Given the description of an element on the screen output the (x, y) to click on. 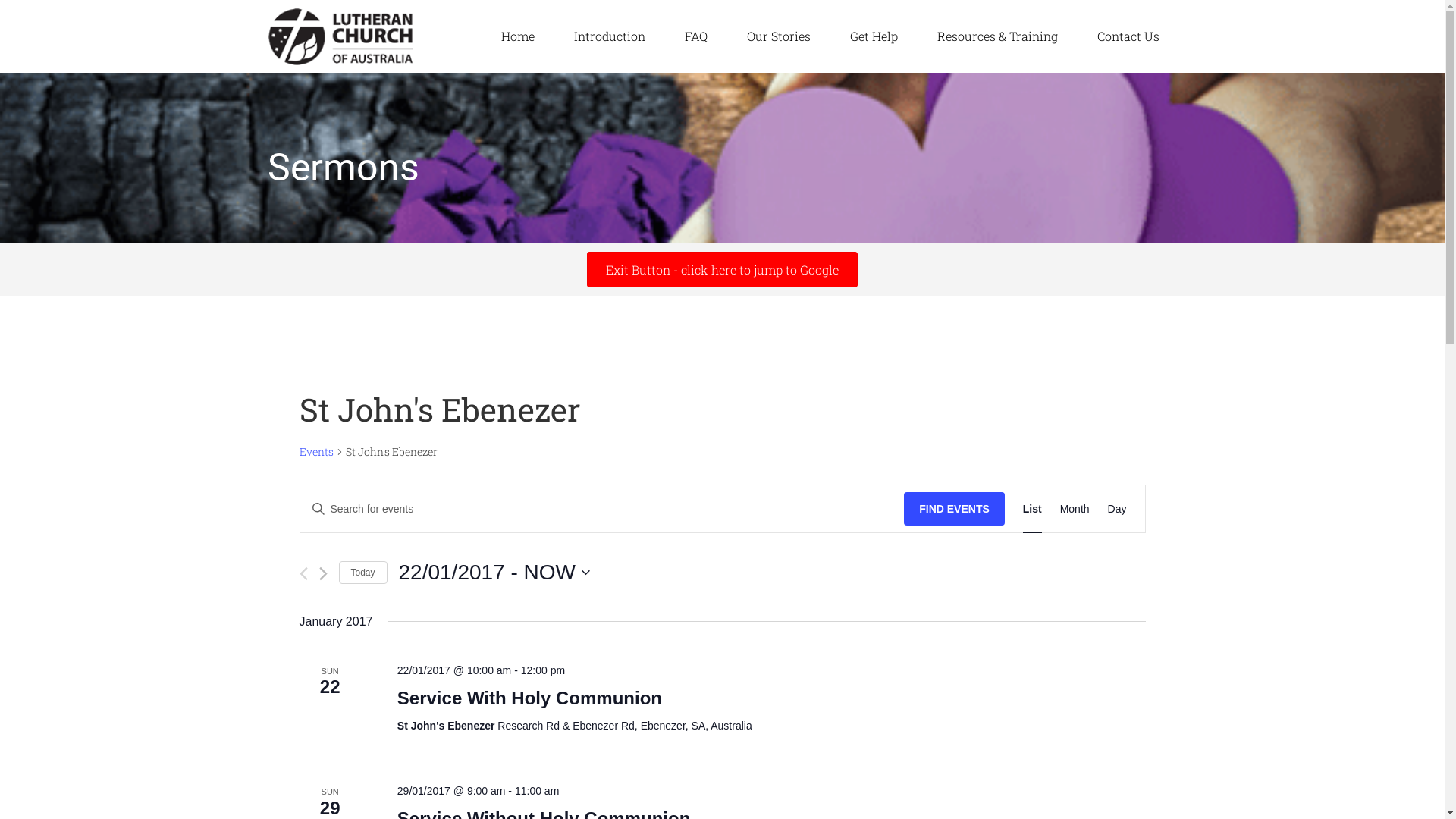
Home Element type: text (517, 36)
HIDDEN HURTS HEALING HEARTS Element type: text (357, 36)
Next Events Element type: hover (322, 573)
List Element type: text (1031, 509)
Today Element type: text (362, 572)
Service With Holy Communion Element type: text (529, 698)
FAQ Element type: text (694, 36)
Events Element type: text (315, 452)
Resources & Training Element type: text (997, 36)
Introduction Element type: text (608, 36)
FIND EVENTS Element type: text (953, 509)
Our Stories Element type: text (778, 36)
Day Element type: text (1116, 509)
Get Help Element type: text (873, 36)
Skip to primary navigation Element type: text (0, 0)
Exit Button - click here to jump to Google Element type: text (721, 269)
22/01/2017
 - 
NOW Element type: text (493, 572)
Month Element type: text (1074, 509)
Previous Events Element type: hover (302, 573)
Contact Us Element type: text (1127, 36)
